Given the description of an element on the screen output the (x, y) to click on. 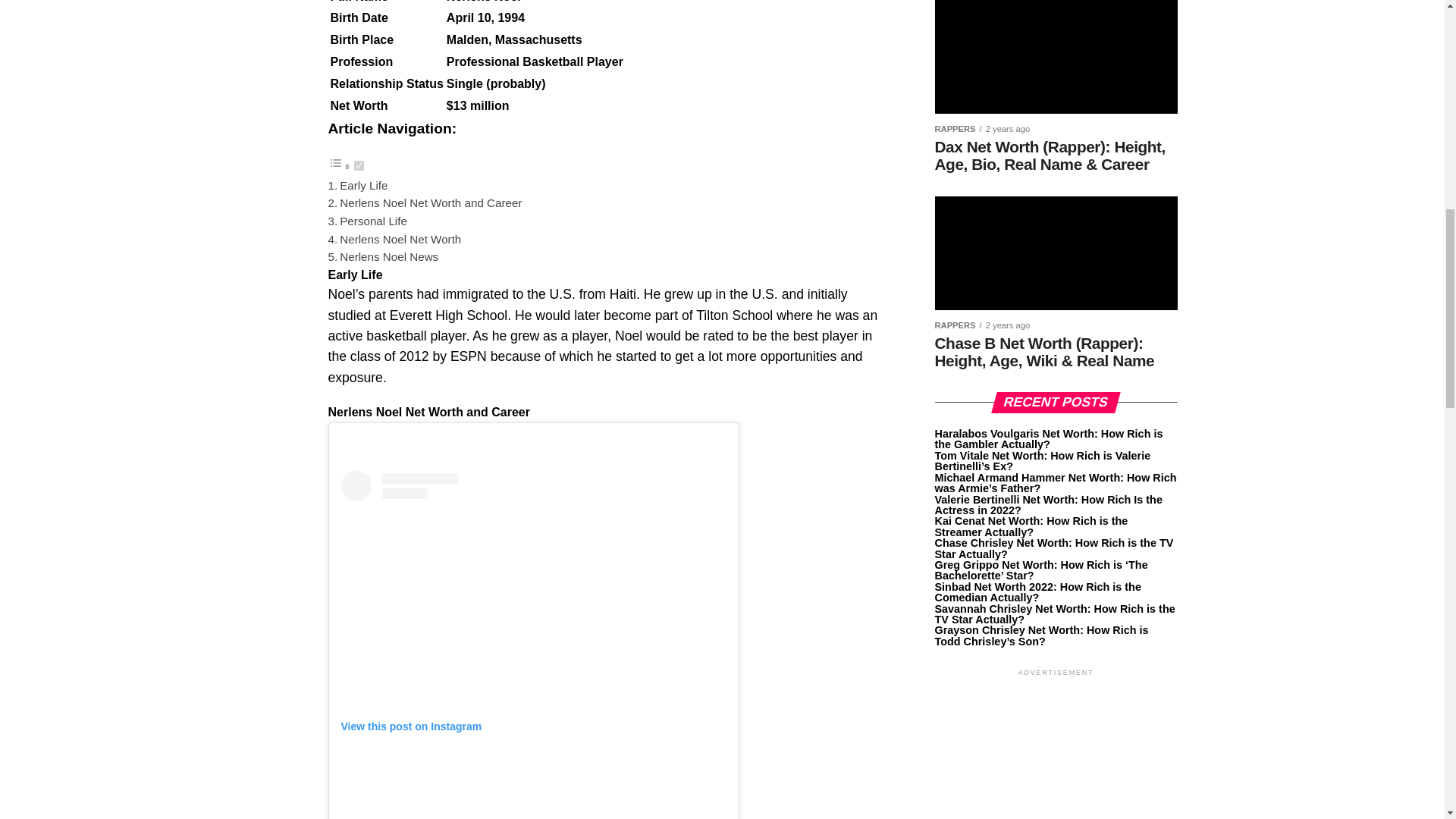
Early Life (363, 185)
Nerlens Noel News (388, 256)
Personal Life (373, 220)
on (357, 165)
Nerlens Noel Net Worth and Career (430, 202)
Nerlens Noel Net Worth (400, 238)
